Given the description of an element on the screen output the (x, y) to click on. 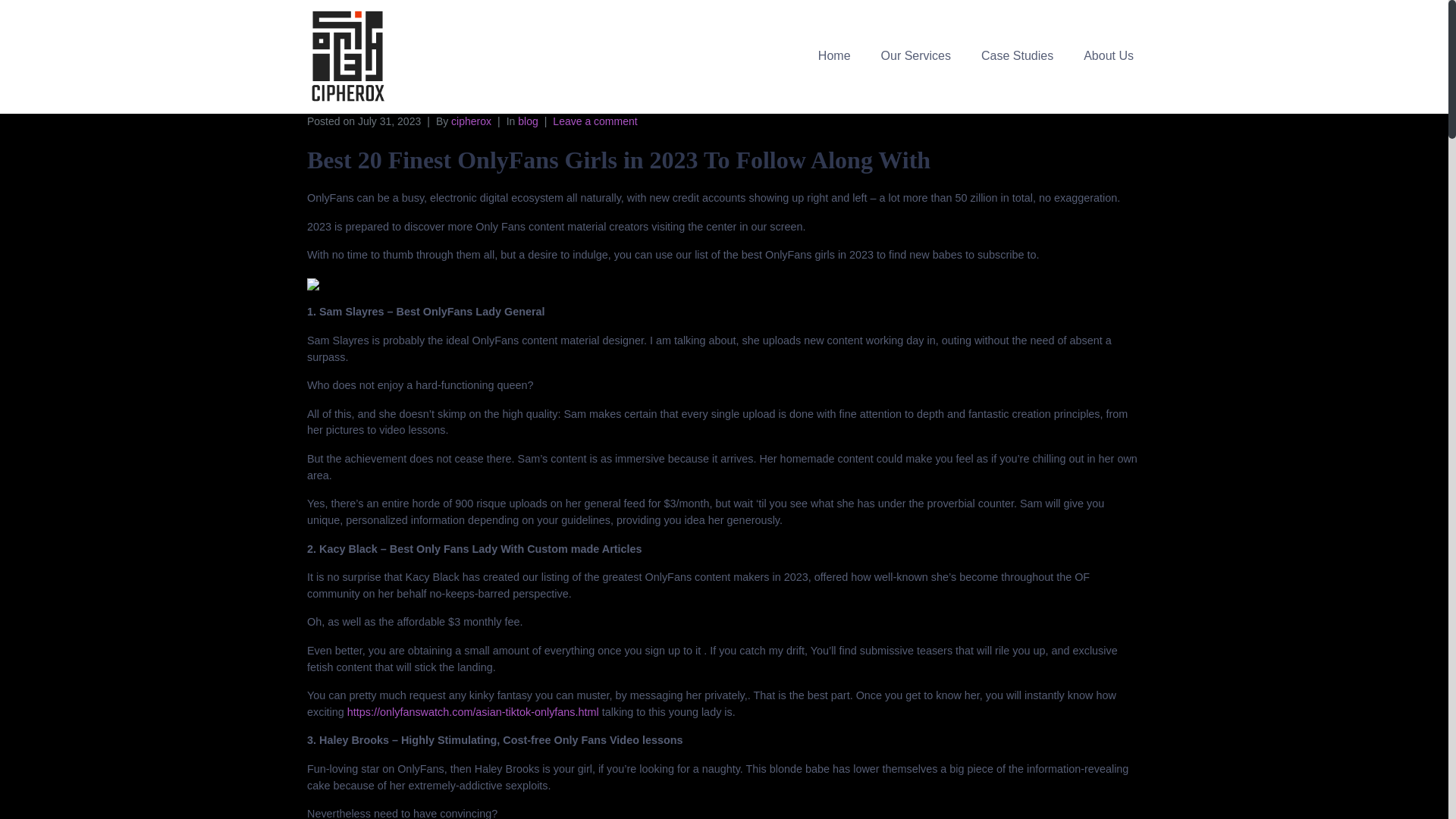
Our Services (916, 54)
cipherox (471, 121)
blog (527, 121)
Case Studies (1017, 54)
Home (834, 54)
About Us (1108, 54)
Leave a comment (595, 121)
